Given the description of an element on the screen output the (x, y) to click on. 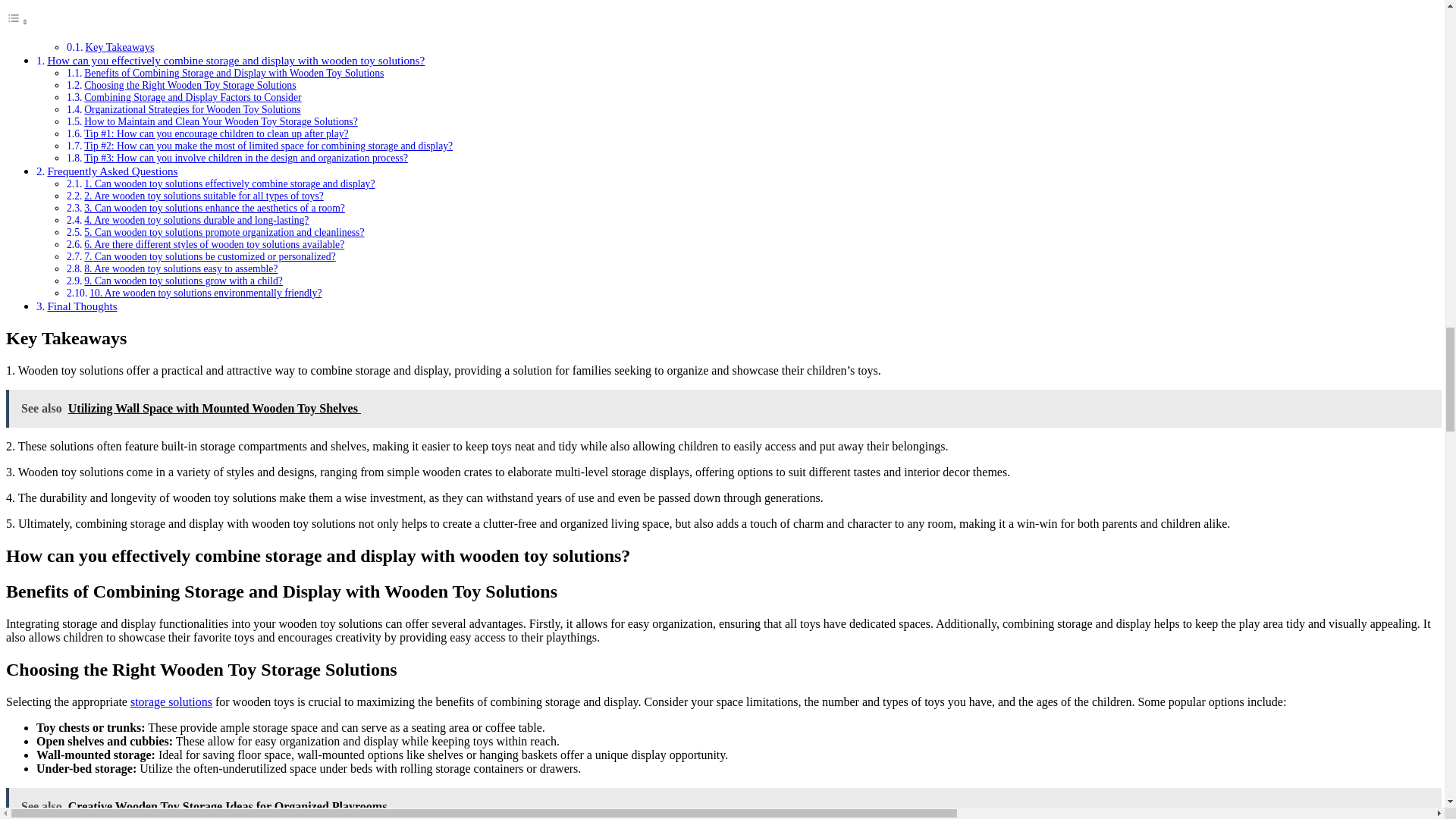
10. Are wooden toy solutions environmentally friendly? (204, 292)
Key Takeaways (119, 46)
Choosing the Right Wooden Toy Storage Solutions (189, 84)
Frequently Asked Questions (111, 170)
Final Thoughts (81, 305)
Combining Storage and Display Factors to Consider (192, 97)
Organizational Strategies for Wooden Toy Solutions (191, 109)
